Given the description of an element on the screen output the (x, y) to click on. 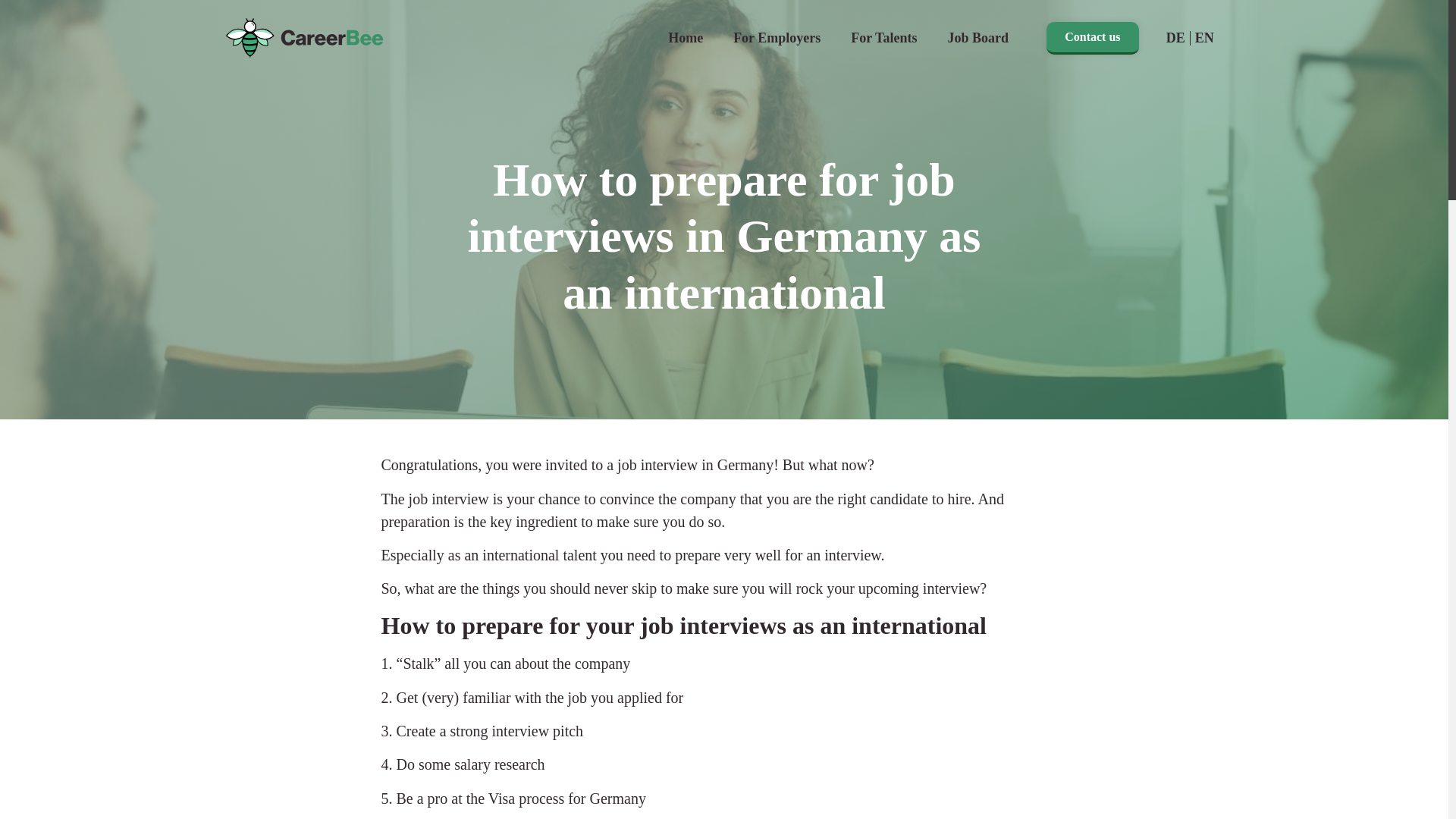
DE (1175, 35)
For Employers (776, 8)
Contact us (1092, 35)
Home (684, 4)
Job Board (977, 14)
For Talents (883, 11)
EN (1204, 37)
